Given the description of an element on the screen output the (x, y) to click on. 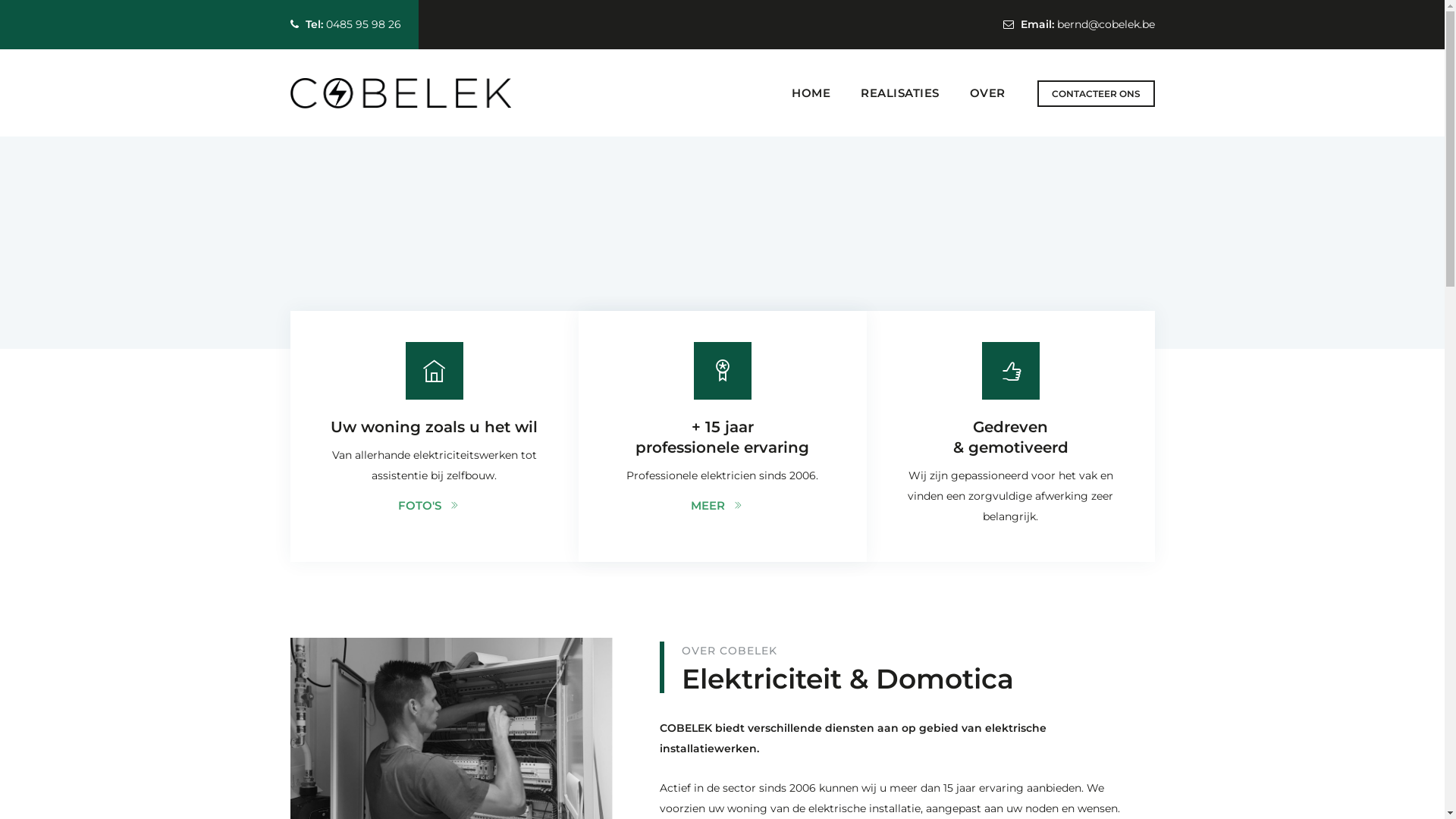
HOME Element type: text (811, 92)
FOTO'S Element type: text (434, 505)
COBELEK Element type: hover (400, 92)
bernd@cobelek.be Element type: text (1105, 24)
MEER Element type: text (722, 505)
OVER Element type: text (986, 92)
REALISATIES Element type: text (900, 92)
CONTACTEER ONS Element type: text (1095, 93)
0485 95 98 26 Element type: text (363, 24)
